Given the description of an element on the screen output the (x, y) to click on. 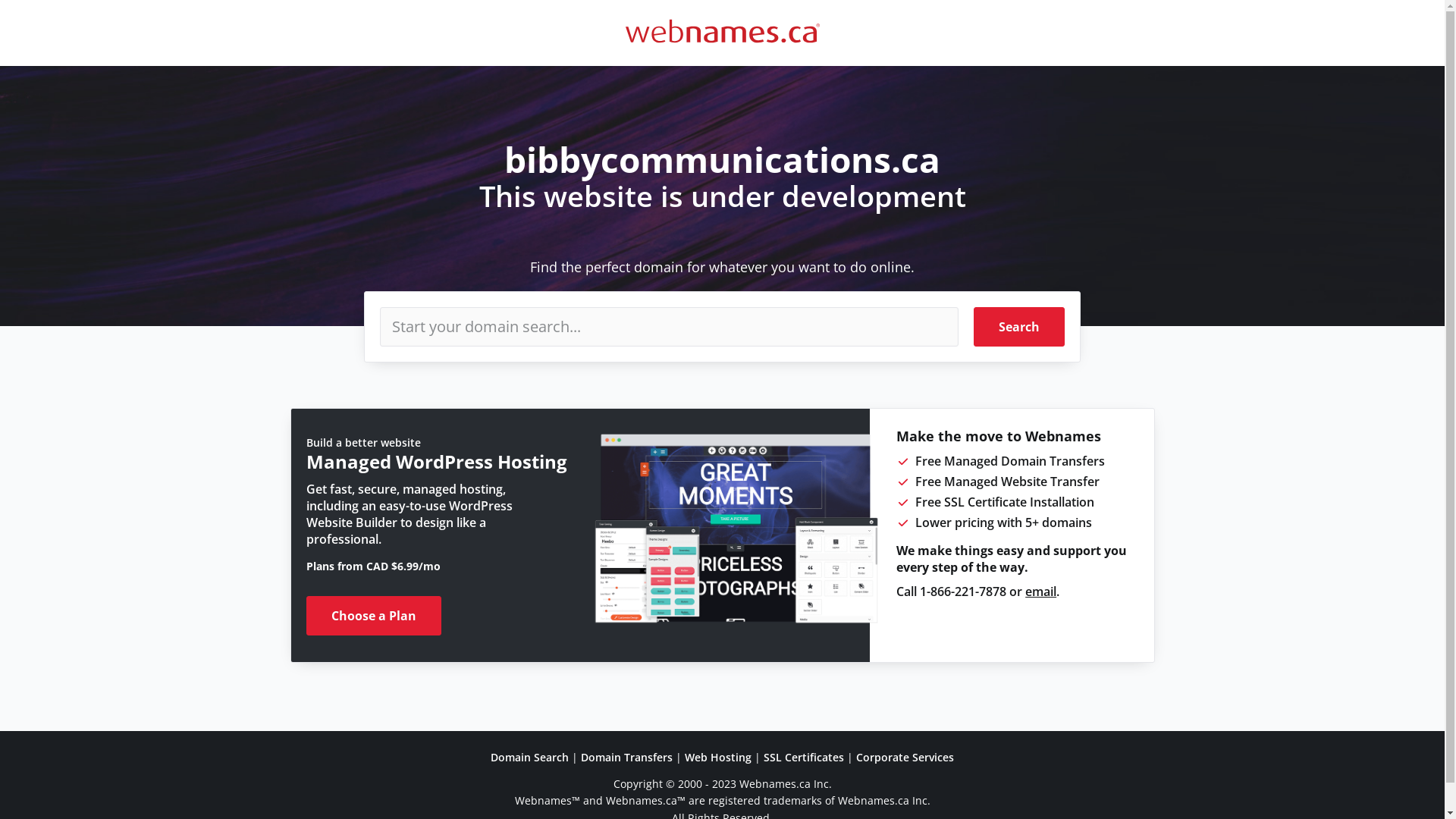
Domain Transfers Element type: text (626, 756)
Domain Search Element type: text (529, 756)
1-866-221-7878 Element type: text (962, 591)
Web Hosting Element type: text (717, 756)
Choose a Plan Element type: text (373, 615)
Search Element type: text (1018, 326)
Corporate Services Element type: text (904, 756)
email Element type: text (1040, 591)
SSL Certificates Element type: text (803, 756)
